Given the description of an element on the screen output the (x, y) to click on. 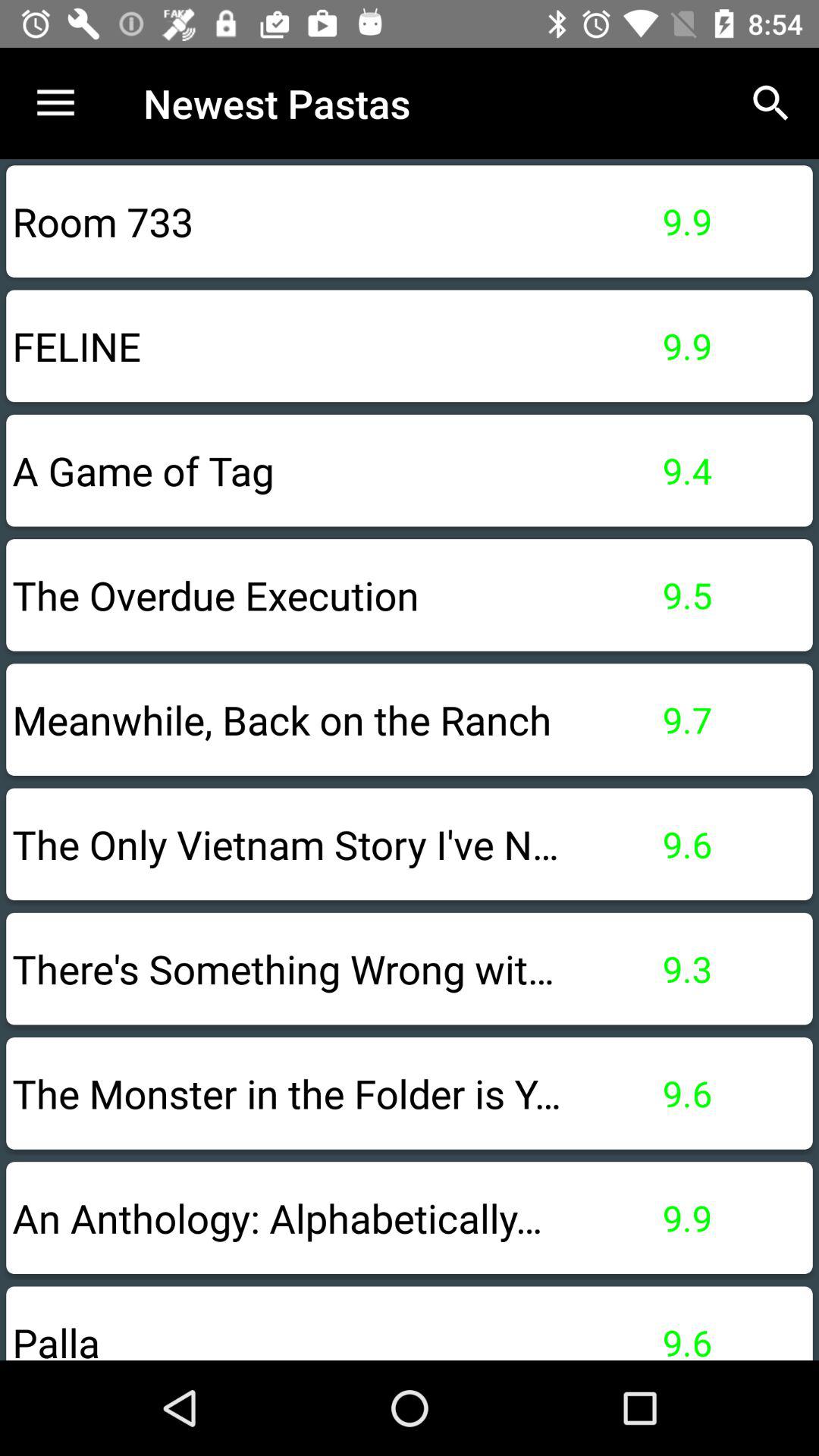
turn on the item to the left of newest pastas icon (55, 103)
